Given the description of an element on the screen output the (x, y) to click on. 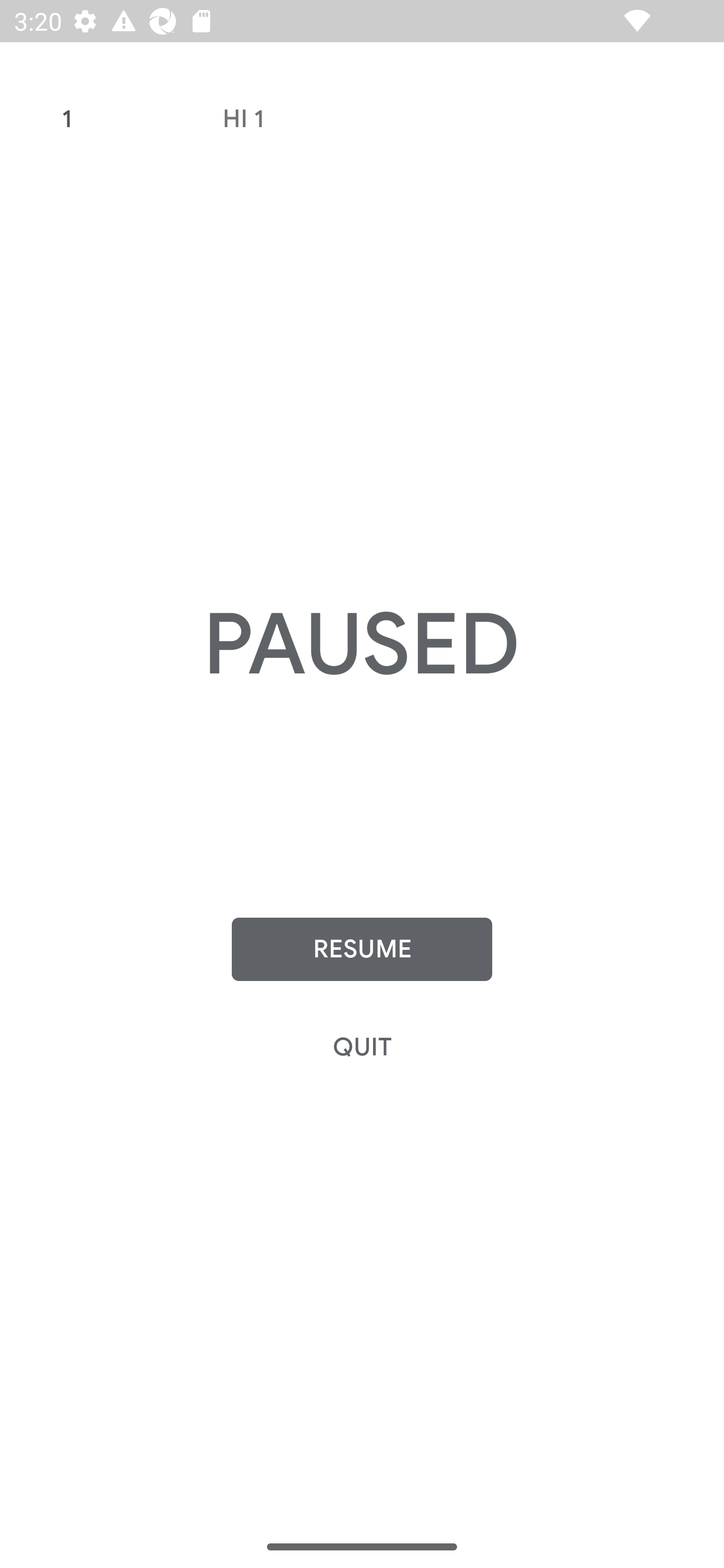
RESUME (361, 948)
QUIT (361, 1047)
